Given the description of an element on the screen output the (x, y) to click on. 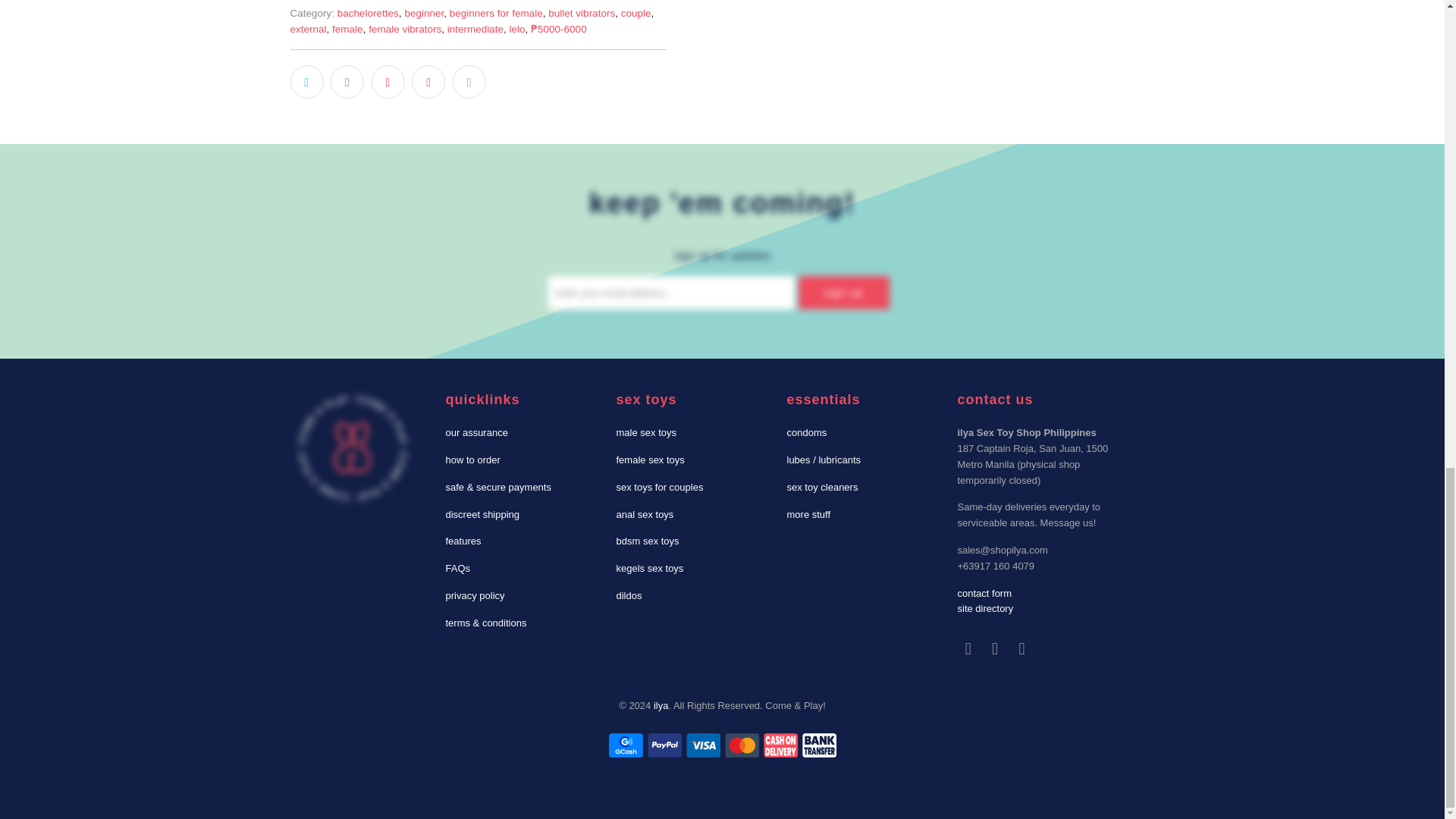
Sign Up (842, 292)
Products tagged beginners for female (496, 12)
Products tagged external (307, 29)
Products tagged couple (635, 12)
Products tagged female (346, 29)
Share this on Twitter (306, 81)
Products tagged female vibrators (404, 29)
Products tagged lelo (517, 29)
Products tagged intermediate (474, 29)
Products tagged beginner (424, 12)
